Given the description of an element on the screen output the (x, y) to click on. 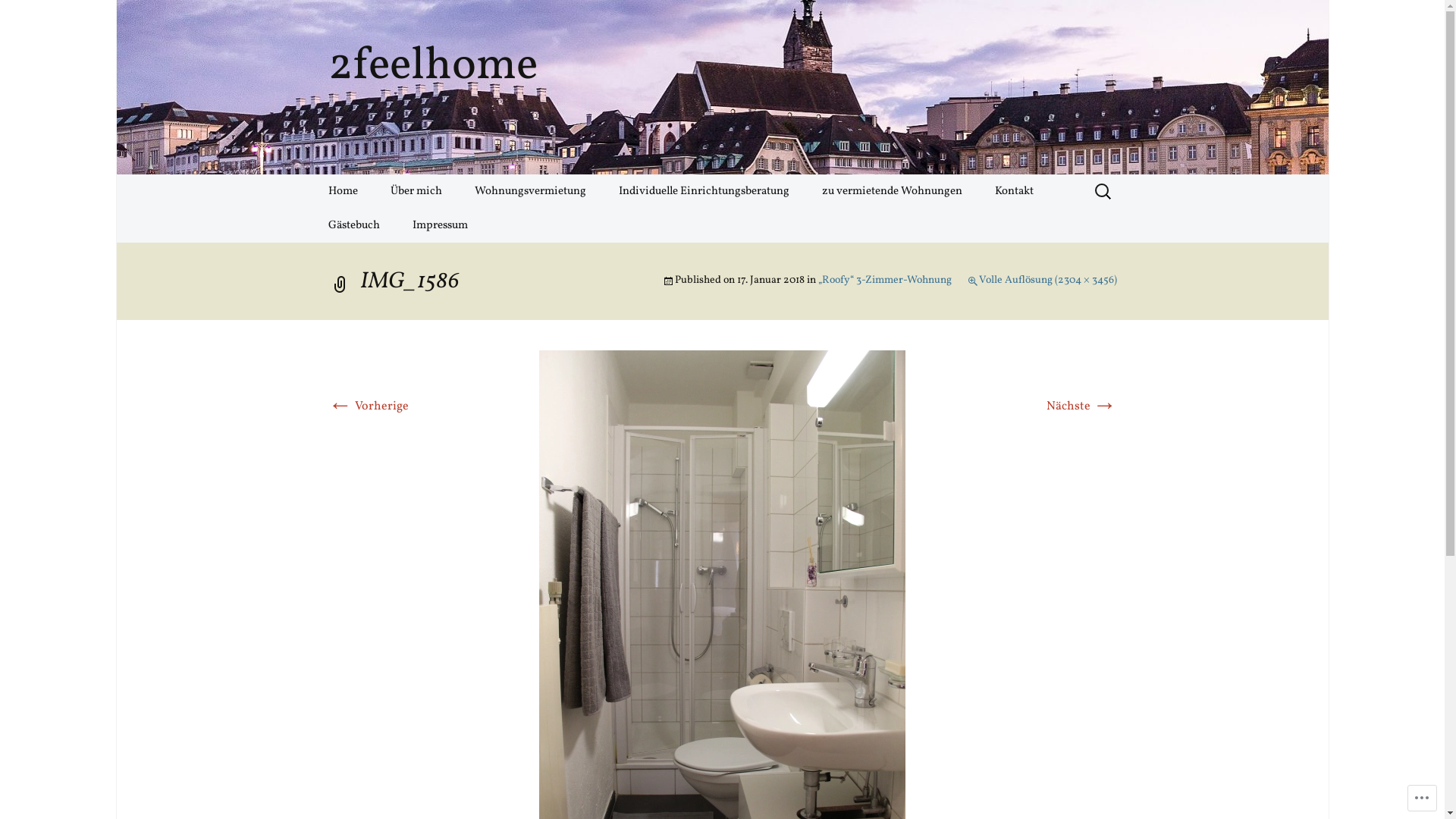
Wohnungsvermietung Element type: text (530, 191)
zu vermietende Wohnungen Element type: text (891, 191)
IMG_1586 Element type: hover (722, 624)
Kontakt Element type: text (1013, 191)
Individuelle Einrichtungsberatung Element type: text (703, 191)
Impressum Element type: text (440, 225)
Home Element type: text (342, 191)
Suche Element type: text (18, 17)
2feelhome Element type: text (721, 87)
